Given the description of an element on the screen output the (x, y) to click on. 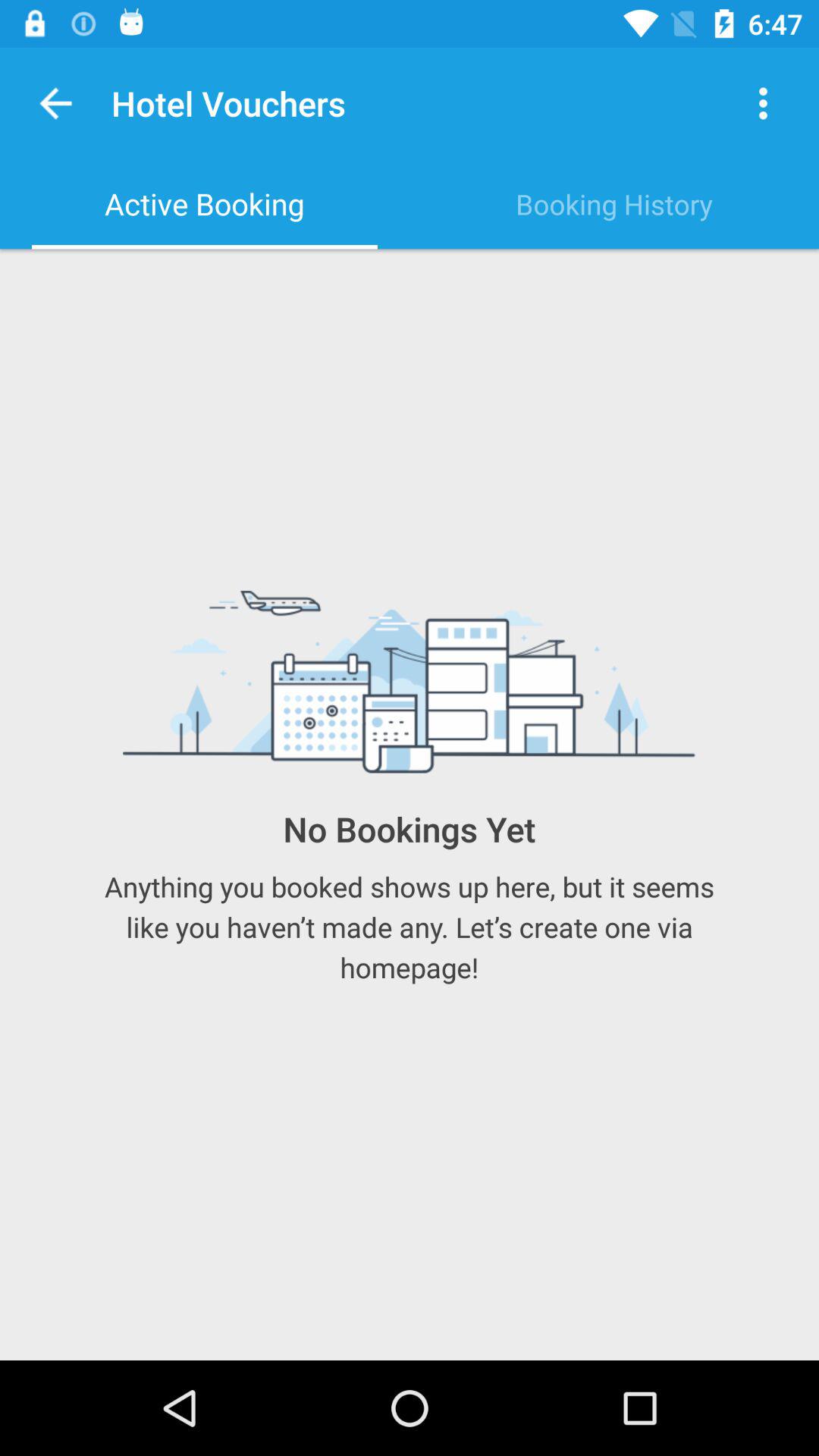
press the item to the right of the hotel vouchers item (763, 103)
